Given the description of an element on the screen output the (x, y) to click on. 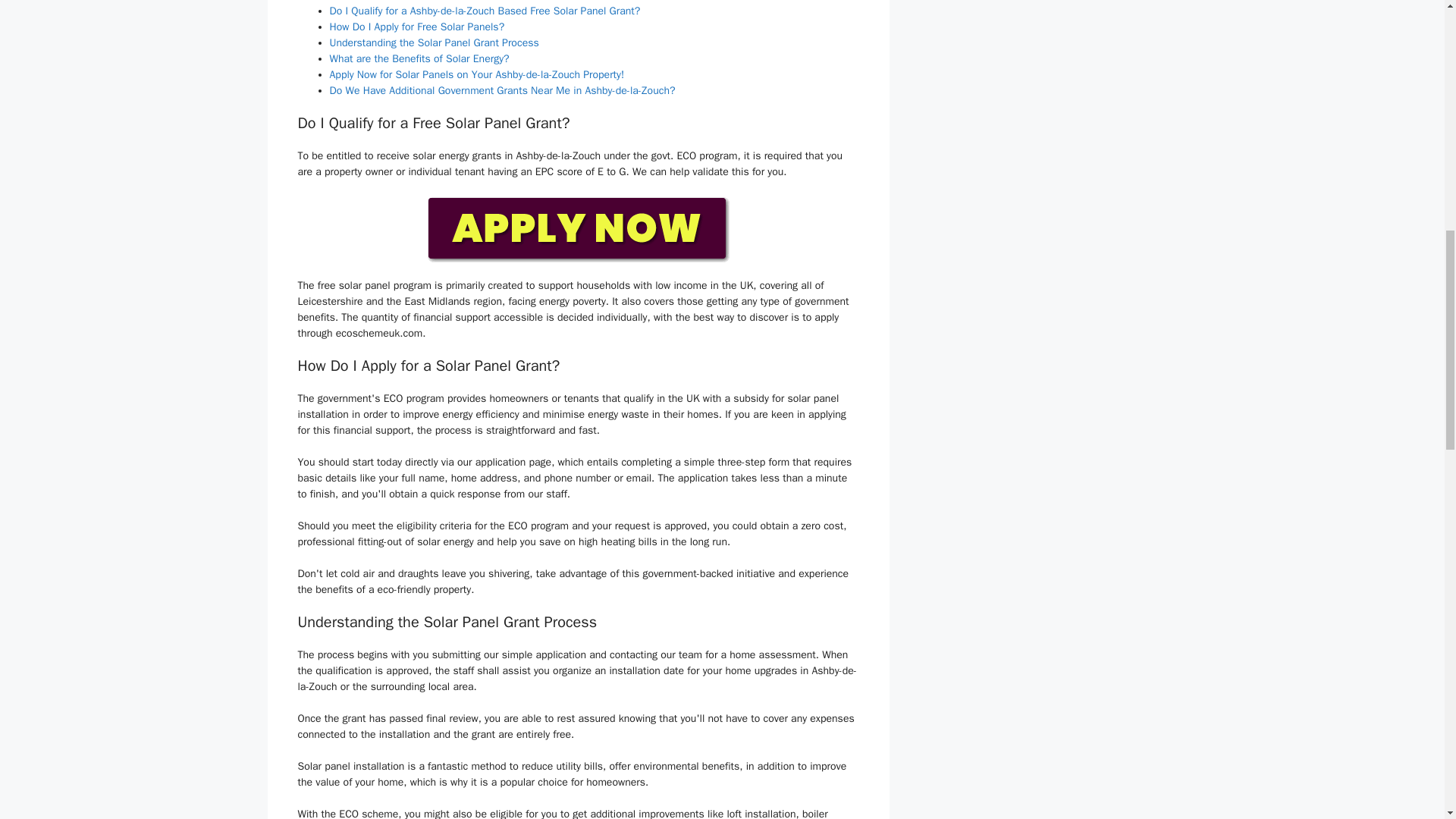
How Do I Apply for Free Solar Panels? (416, 26)
Understanding the Solar Panel Grant Process (433, 42)
What are the Benefits of Solar Energy? (418, 58)
